Given the description of an element on the screen output the (x, y) to click on. 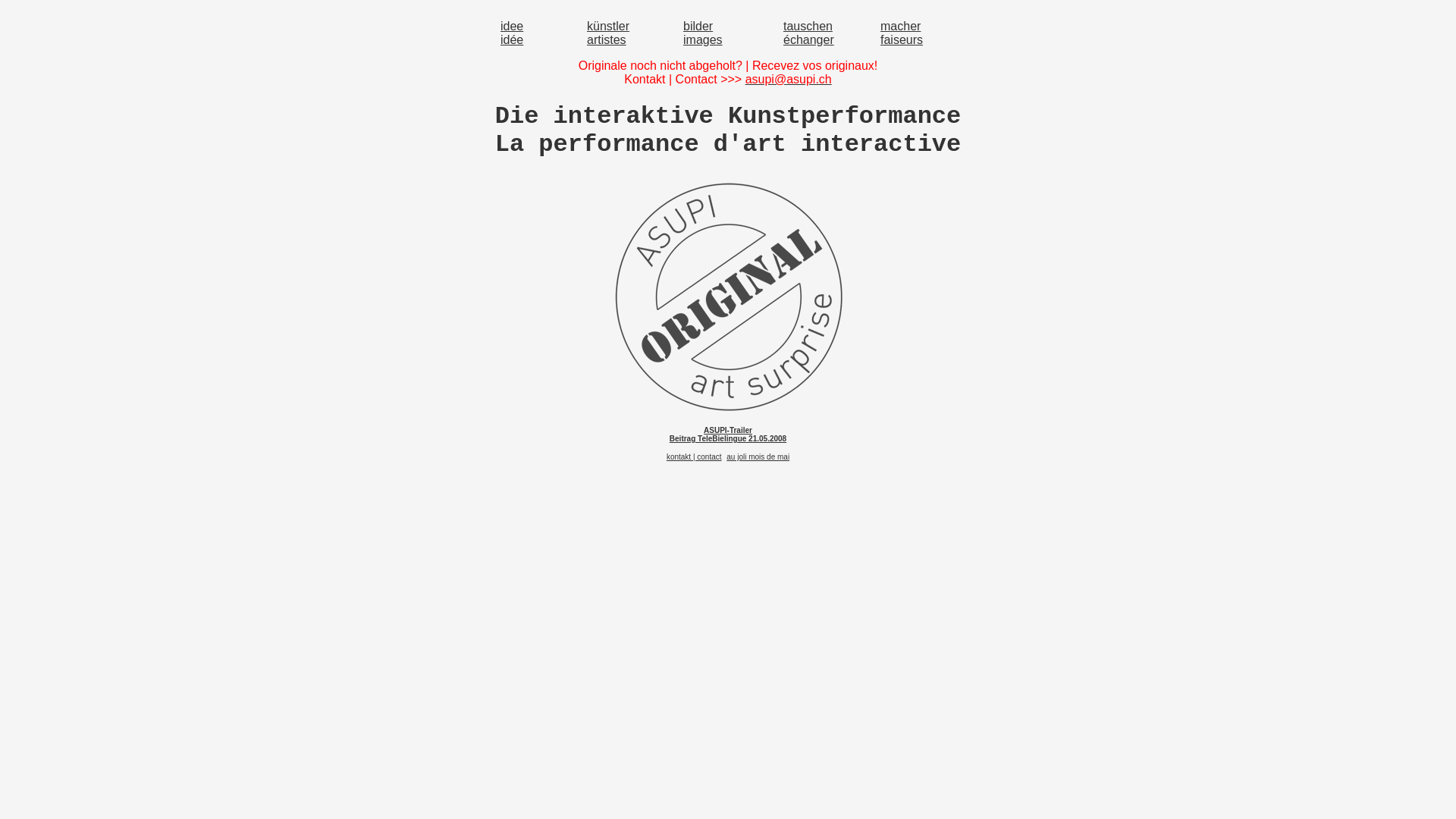
images Element type: text (702, 39)
idee Element type: text (511, 25)
faiseurs Element type: text (901, 39)
ASUPI-Trailer Element type: text (727, 430)
Beitrag TeleBielingue 21.05.2008 Element type: text (727, 438)
kontakt | contact Element type: text (693, 456)
asupi@asupi.ch Element type: text (788, 78)
au joli mois de mai Element type: text (757, 456)
tauschen Element type: text (807, 25)
macher Element type: text (900, 25)
artistes Element type: text (606, 39)
bilder Element type: text (697, 25)
